Given the description of an element on the screen output the (x, y) to click on. 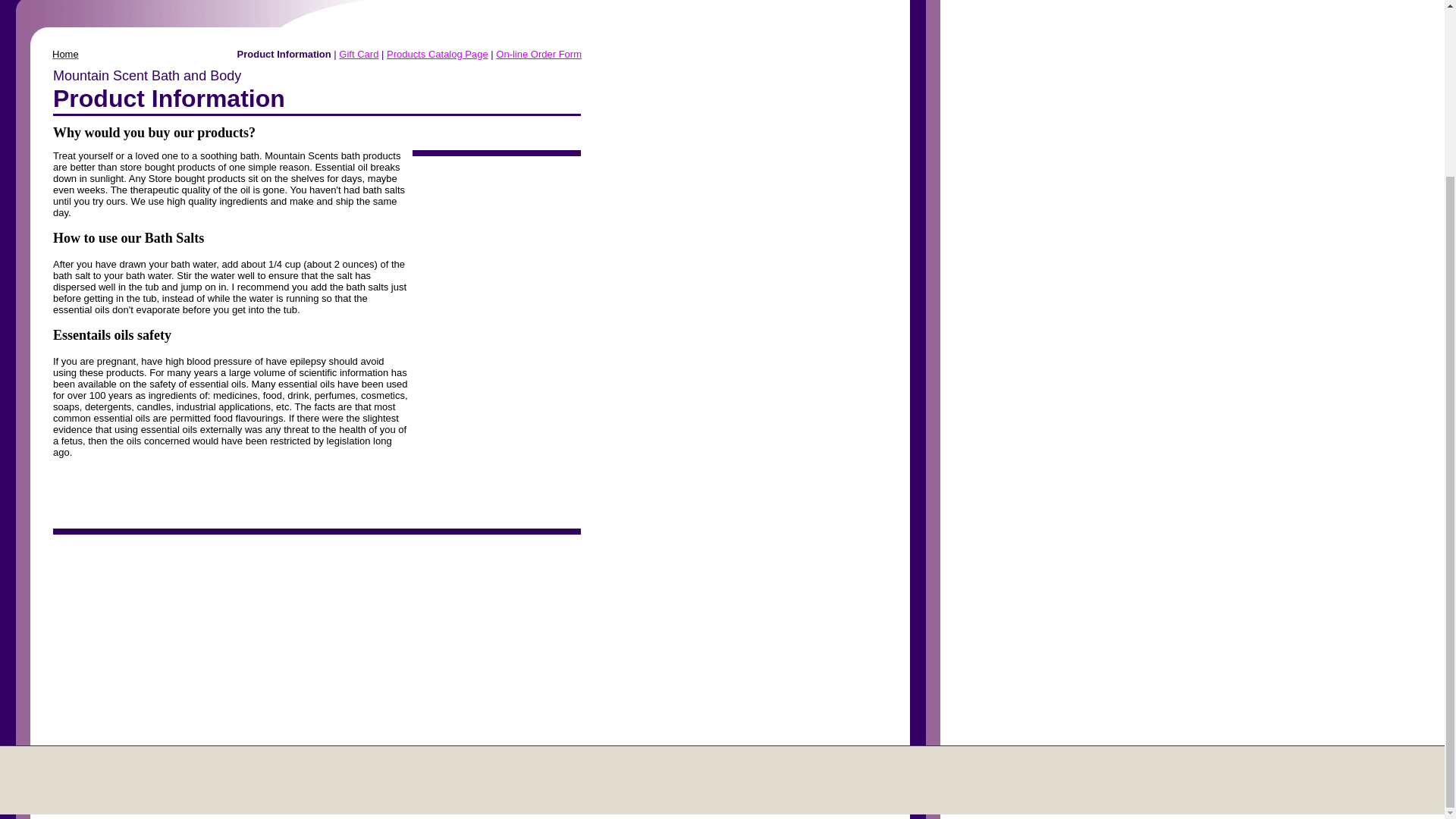
On-line Order Form (538, 53)
Products Catalog Page (437, 53)
Home (65, 52)
Gift Card (358, 53)
